Given the description of an element on the screen output the (x, y) to click on. 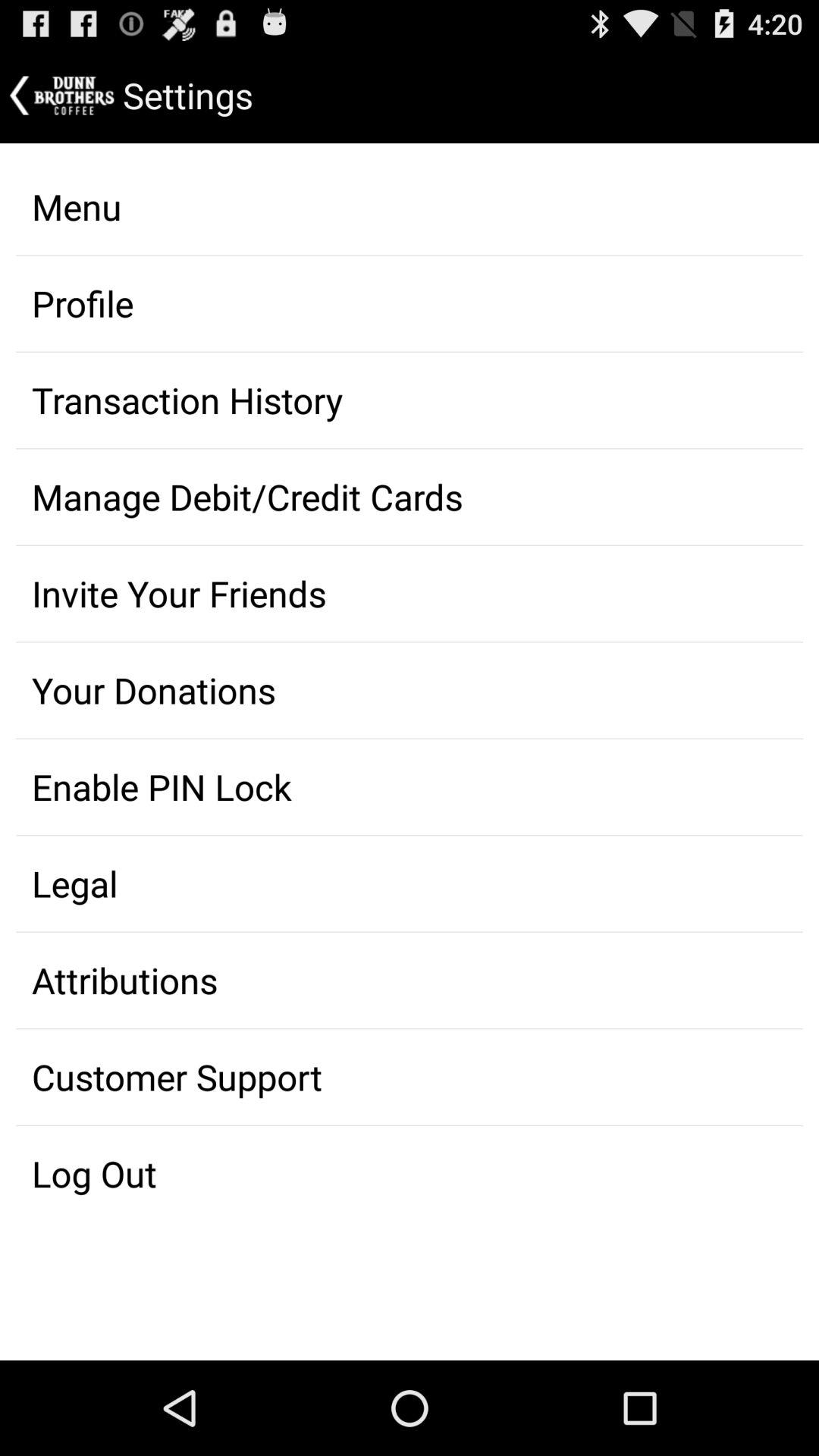
turn on item below transaction history item (409, 496)
